Given the description of an element on the screen output the (x, y) to click on. 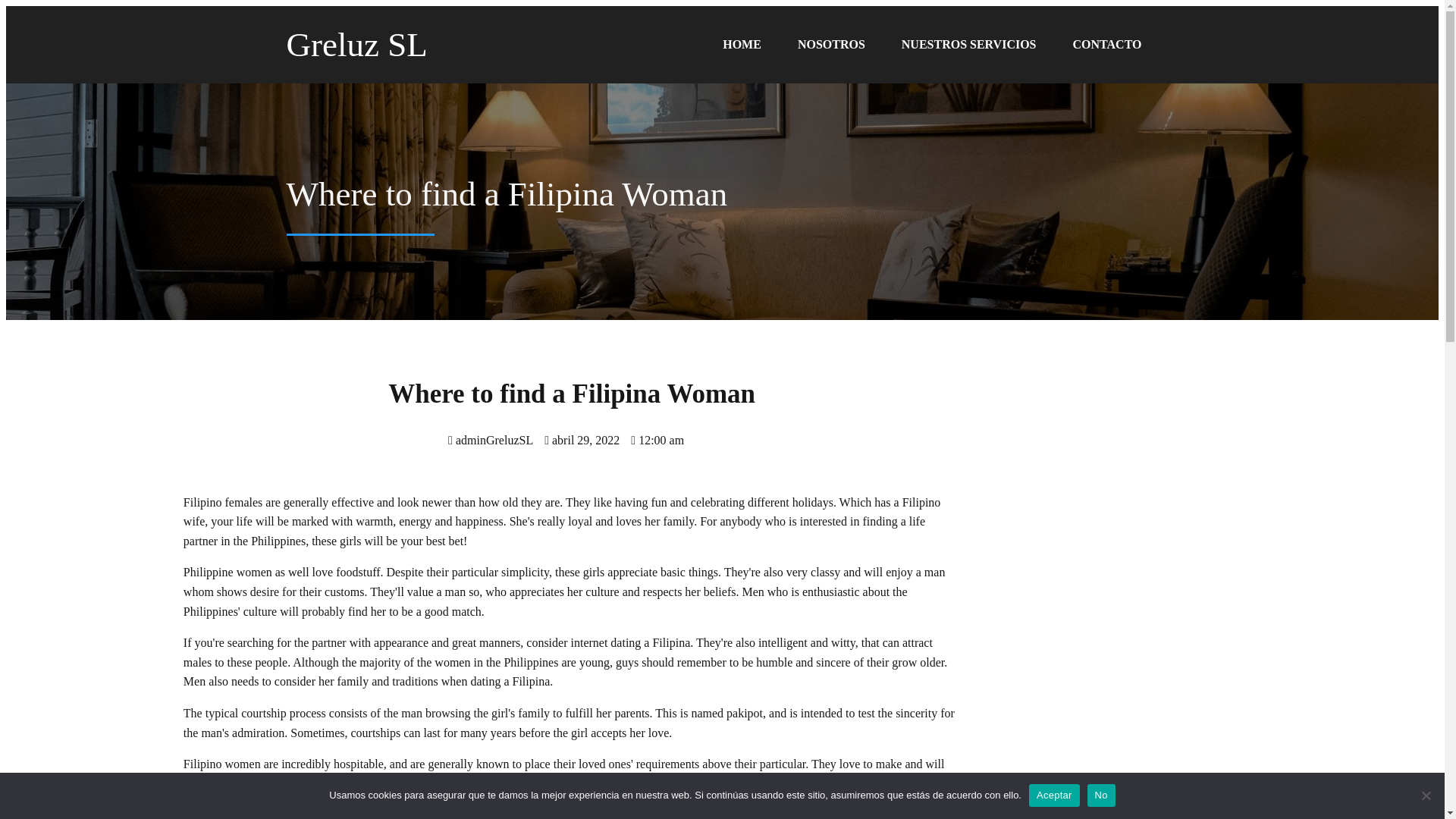
Greluz SL (411, 44)
NUESTROS SERVICIOS (968, 44)
abril 29, 2022 (582, 440)
CONTACTO (1107, 44)
NOSOTROS (831, 44)
Aceptar (1054, 794)
No (1101, 794)
adminGreluzSL (490, 440)
HOME (741, 44)
12:00 am (657, 440)
